Given the description of an element on the screen output the (x, y) to click on. 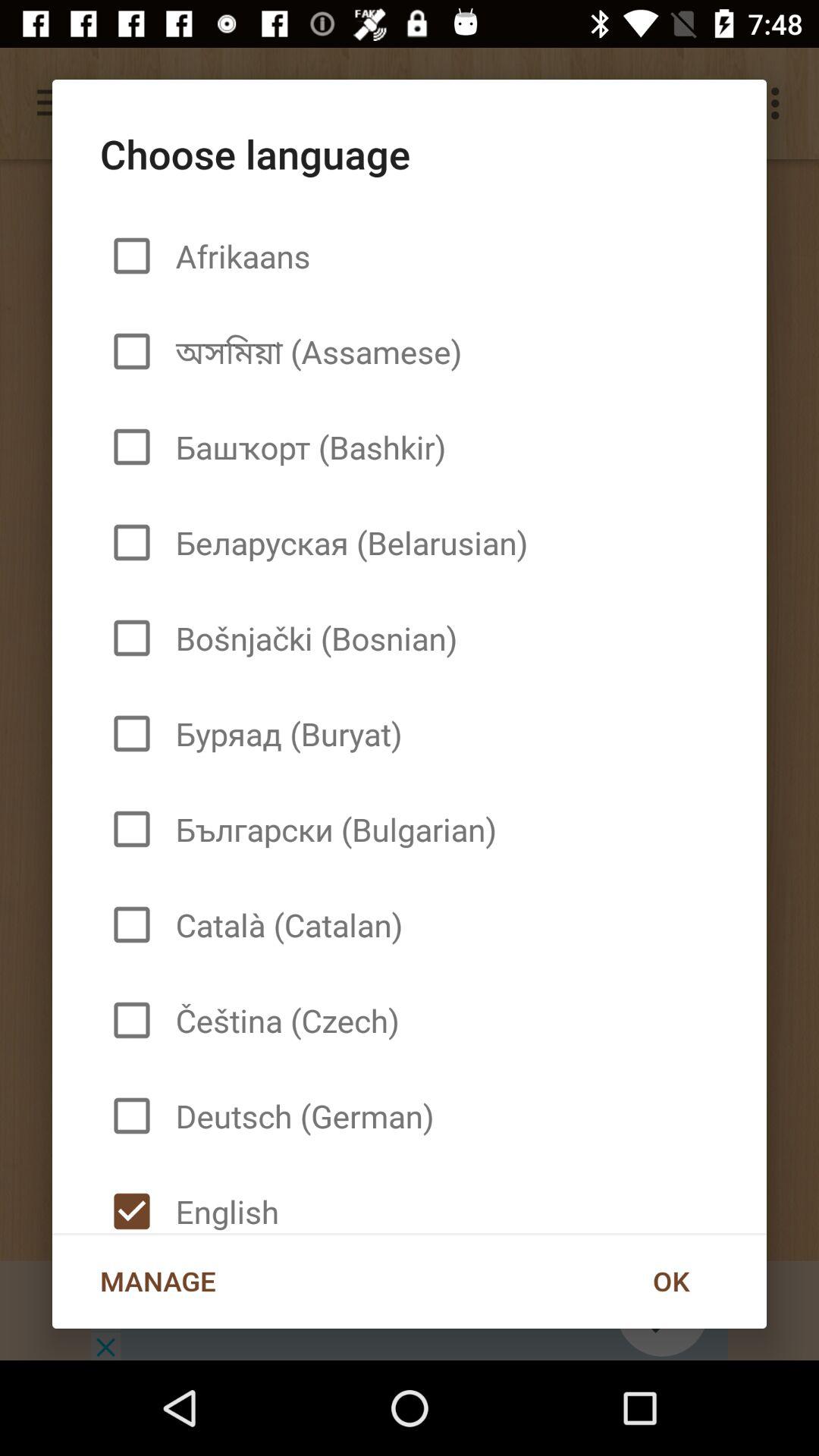
jump to the afrikaans item (236, 255)
